Given the description of an element on the screen output the (x, y) to click on. 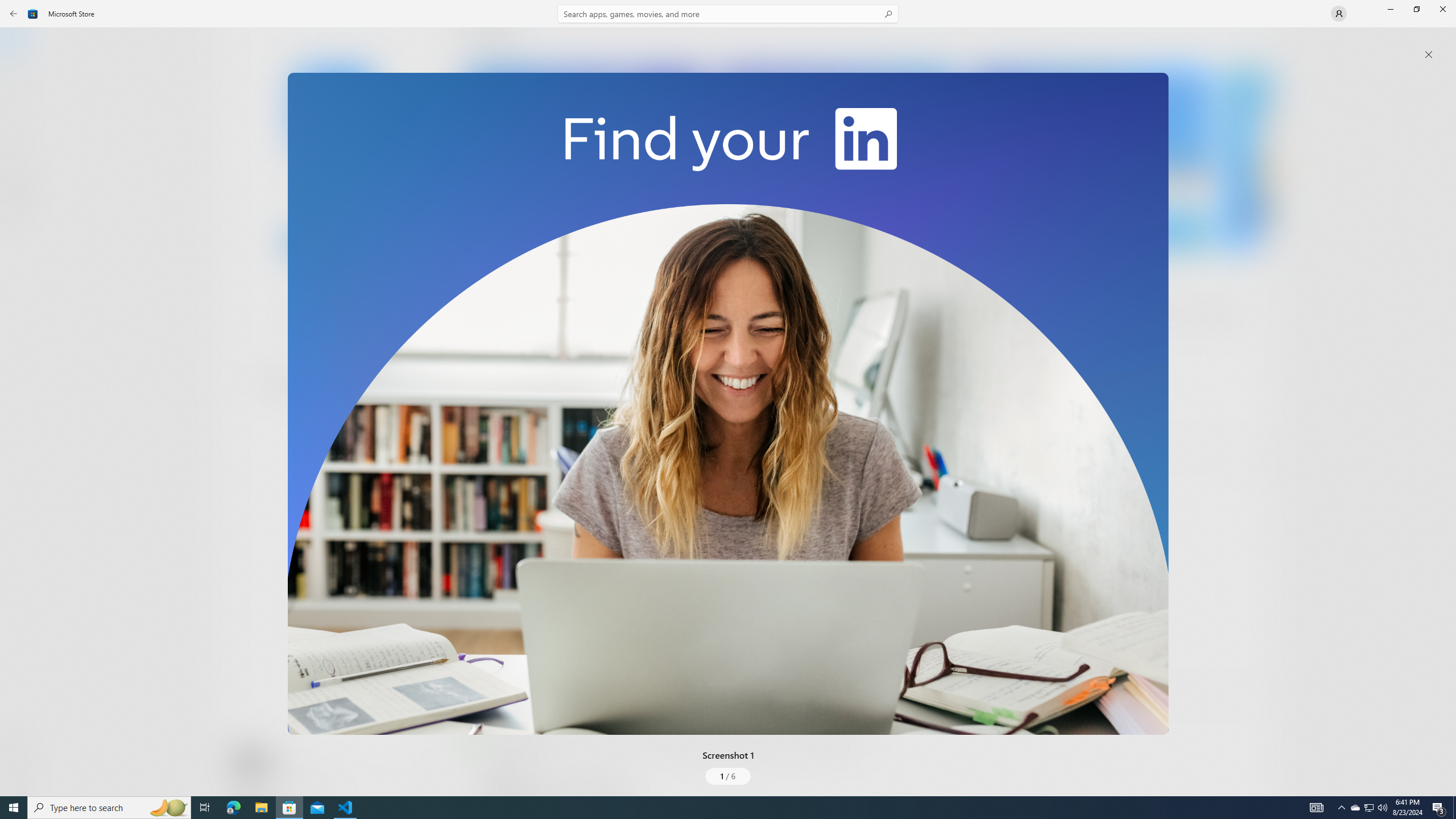
Screenshot 4 (1247, 158)
Entertainment (20, 185)
Arcade (20, 150)
close popup window (1428, 54)
Screenshot 2 (836, 158)
Minimize Microsoft Store (1390, 9)
Get (334, 241)
Screenshot 1 (727, 403)
AI Hub (20, 221)
What's New (20, 738)
Show all ratings and reviews (477, 667)
Social (329, 423)
User profile (1338, 13)
Class: Image (727, 403)
Back (13, 13)
